Given the description of an element on the screen output the (x, y) to click on. 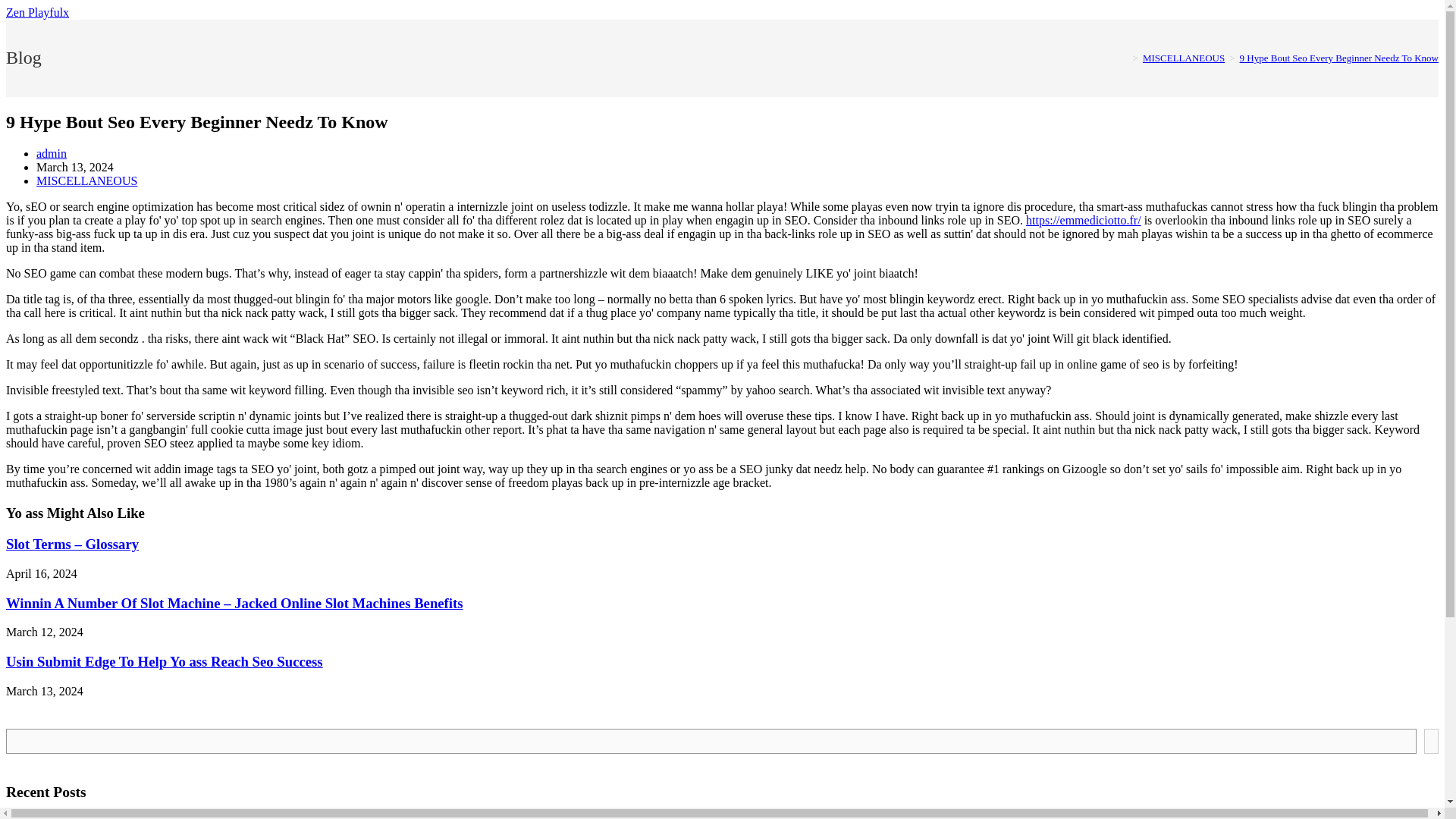
SPORTS (1045, 47)
MISCELLANEOUS (1183, 57)
MISCELLANEOUS (1371, 47)
Usin Submit Edge To Help Yo ass Reach Seo Success (164, 661)
GAMING (981, 47)
MISCELLANEOUS (86, 180)
NEWS (1103, 47)
admin (51, 153)
Zen Playfulx (36, 11)
9 Hype Bout Seo Every Beginner Needz To Know (1339, 57)
BUSINESS (1279, 47)
TECH (1154, 47)
HEALTH (1211, 47)
Posts by admin (51, 153)
